Given the description of an element on the screen output the (x, y) to click on. 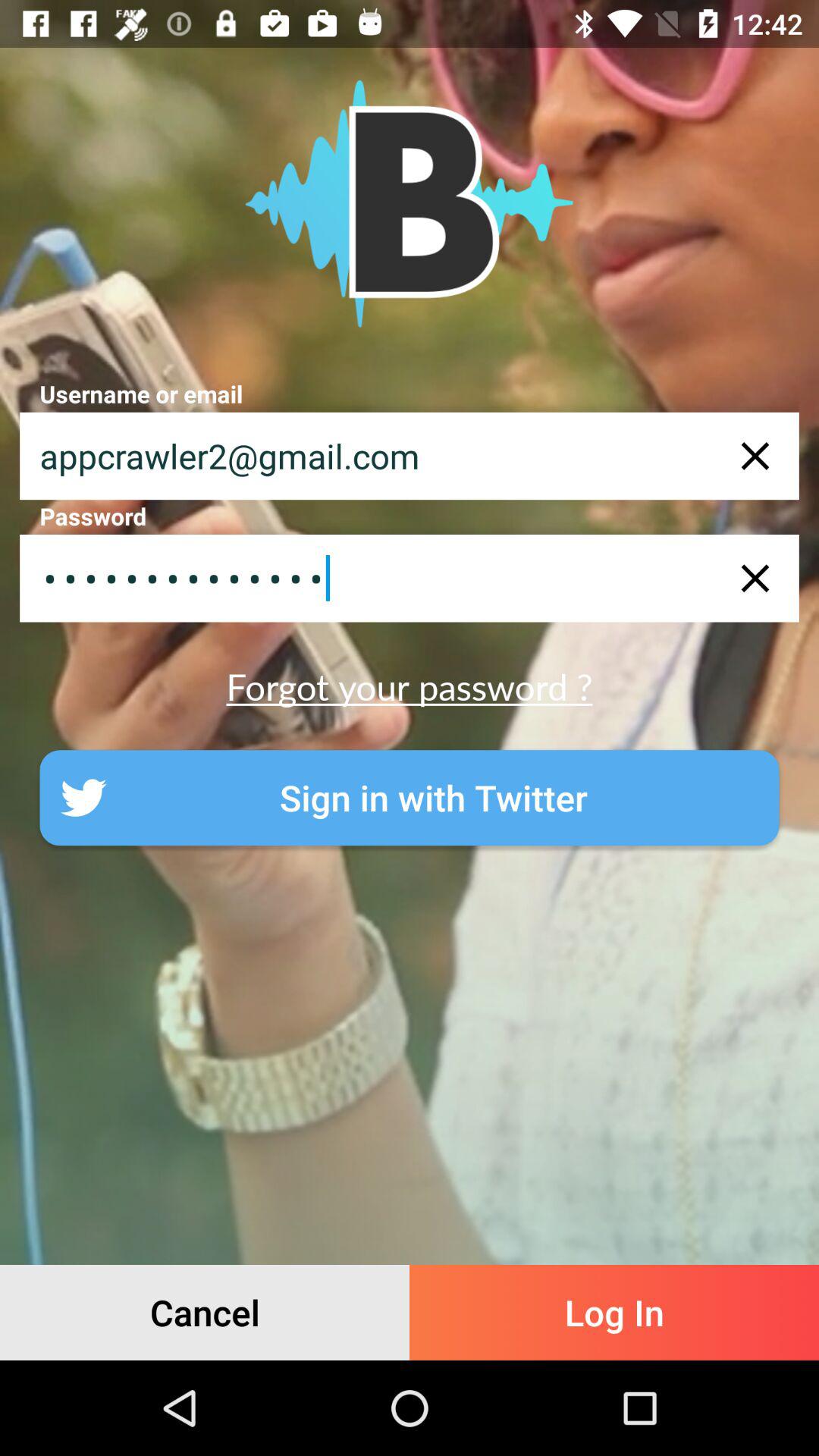
launch the item above the password app (409, 455)
